Given the description of an element on the screen output the (x, y) to click on. 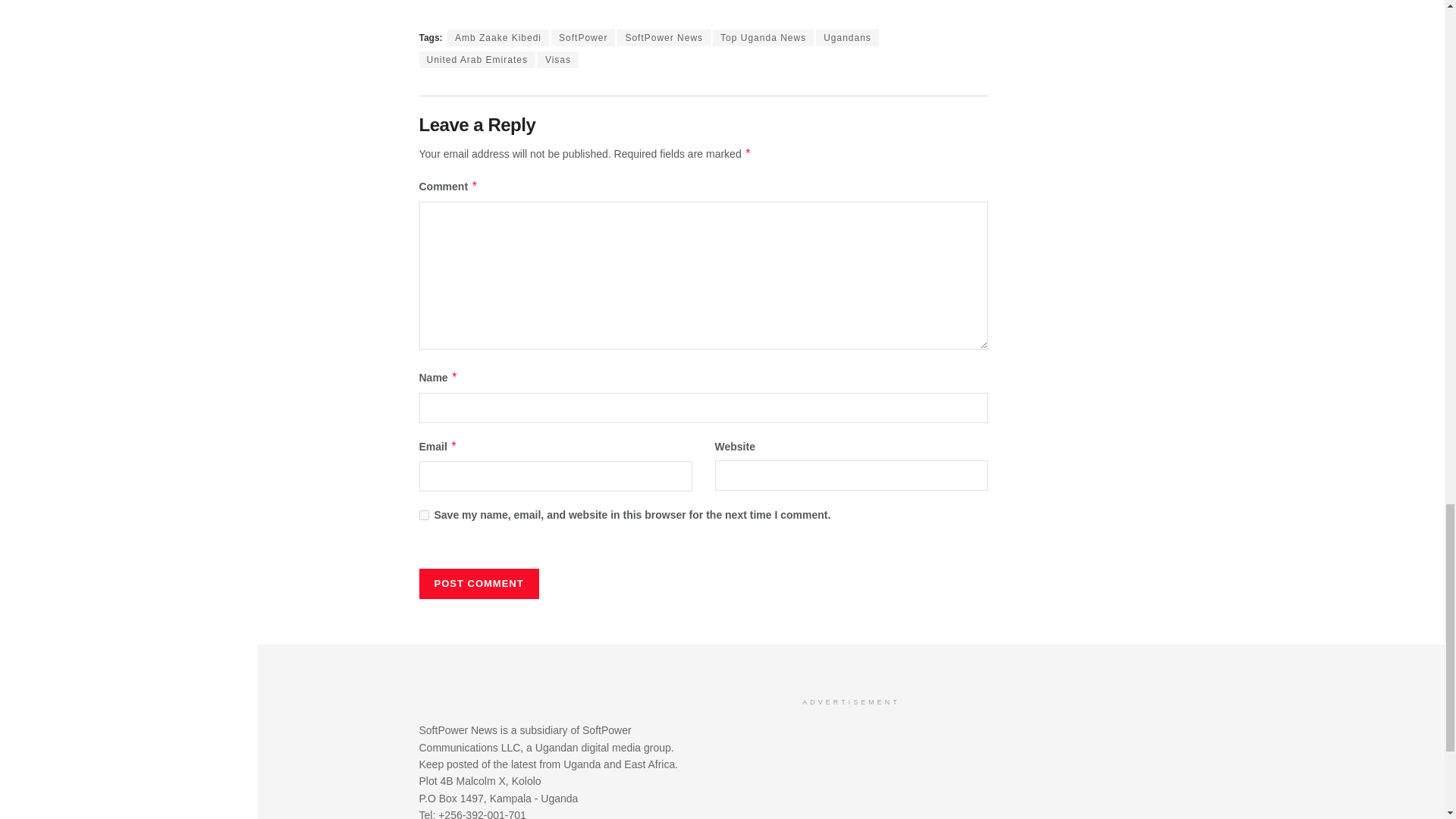
Post Comment (478, 583)
yes (423, 515)
